Given the description of an element on the screen output the (x, y) to click on. 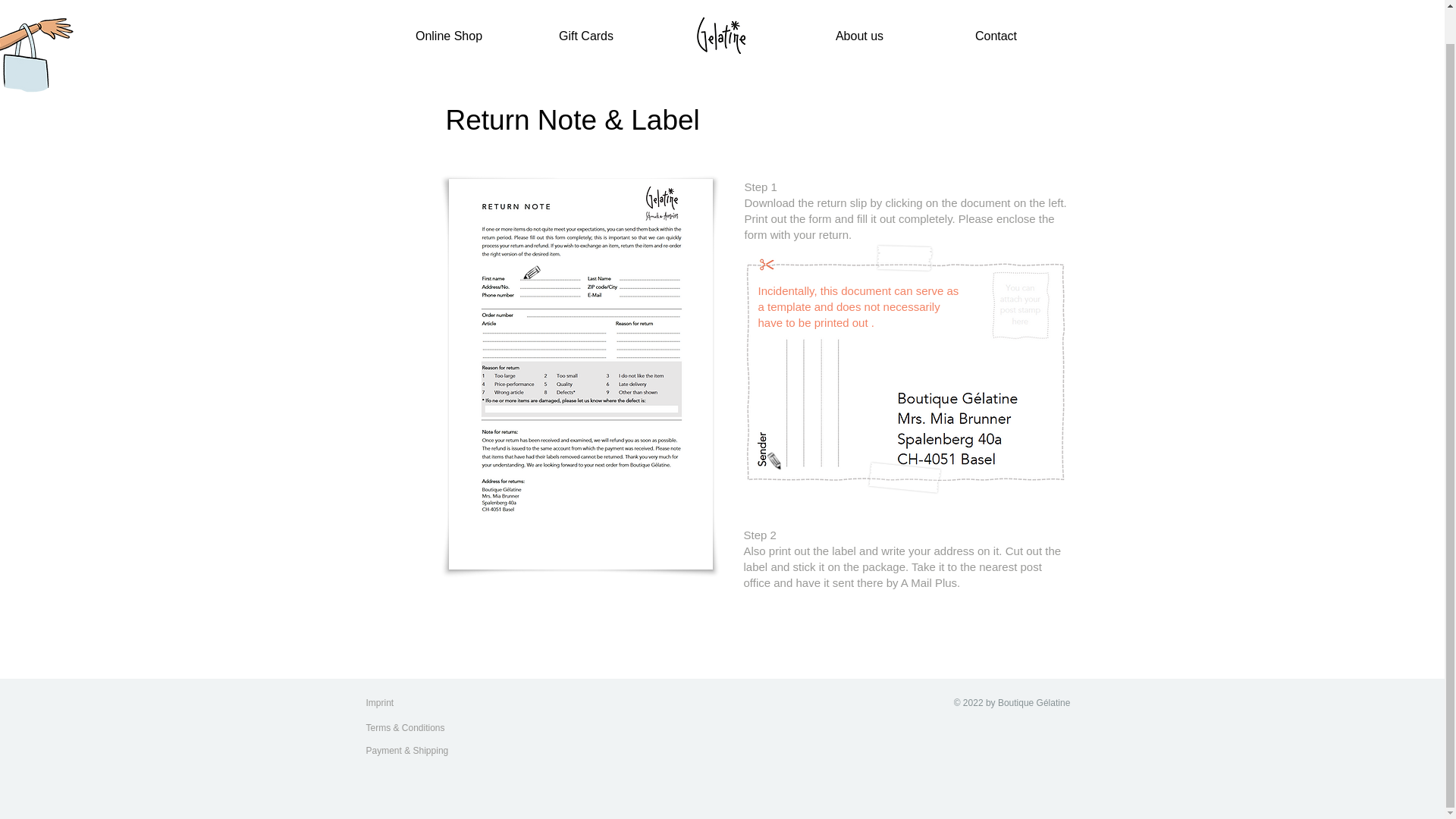
About us (860, 36)
Hand drawn pencil (531, 272)
Online Shop (449, 36)
Hand drawn pencil (777, 456)
Imprint (395, 702)
Gift Cards (584, 36)
Contact (996, 36)
